Given the description of an element on the screen output the (x, y) to click on. 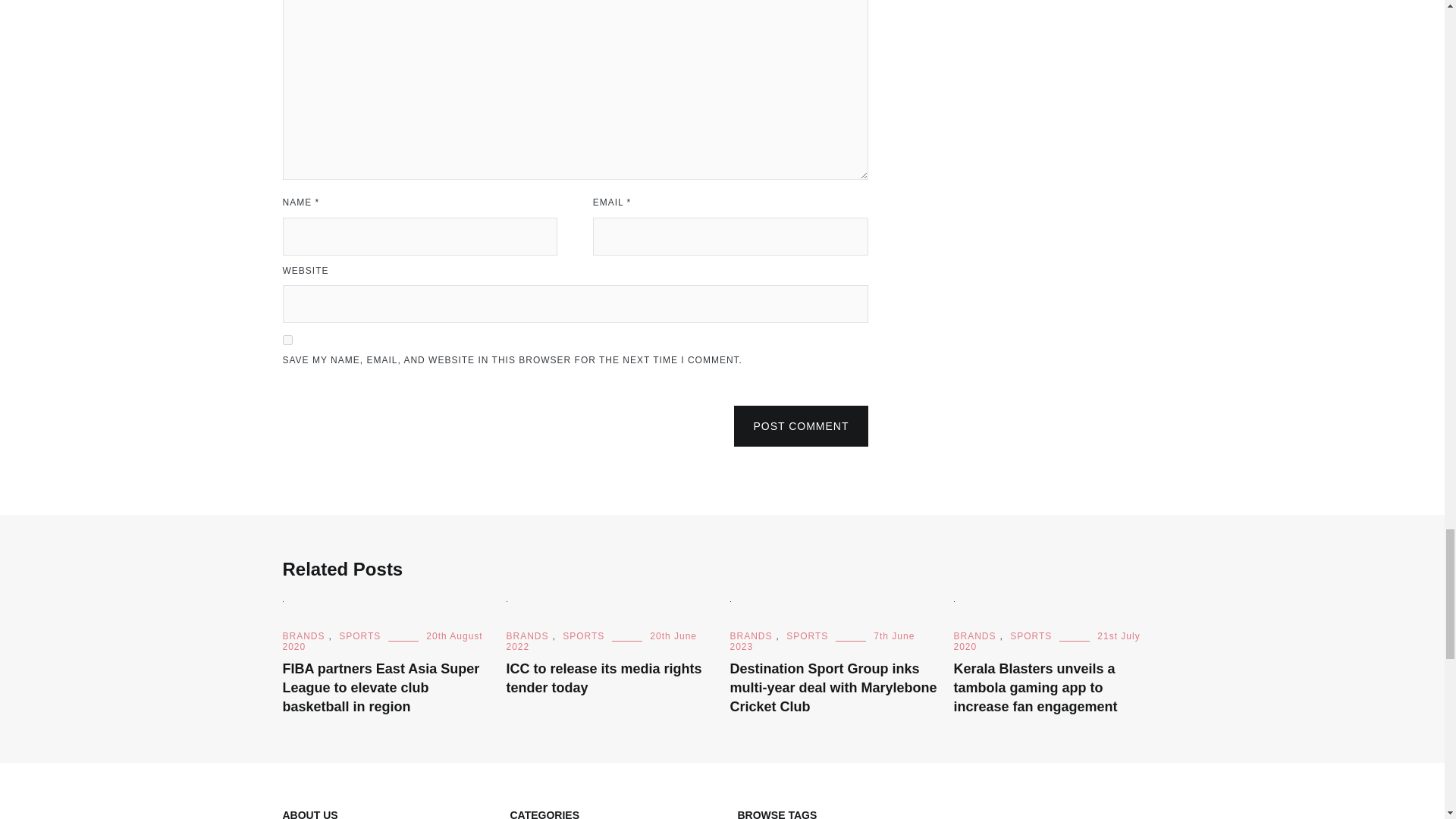
yes (287, 339)
POST COMMENT (800, 425)
